Given the description of an element on the screen output the (x, y) to click on. 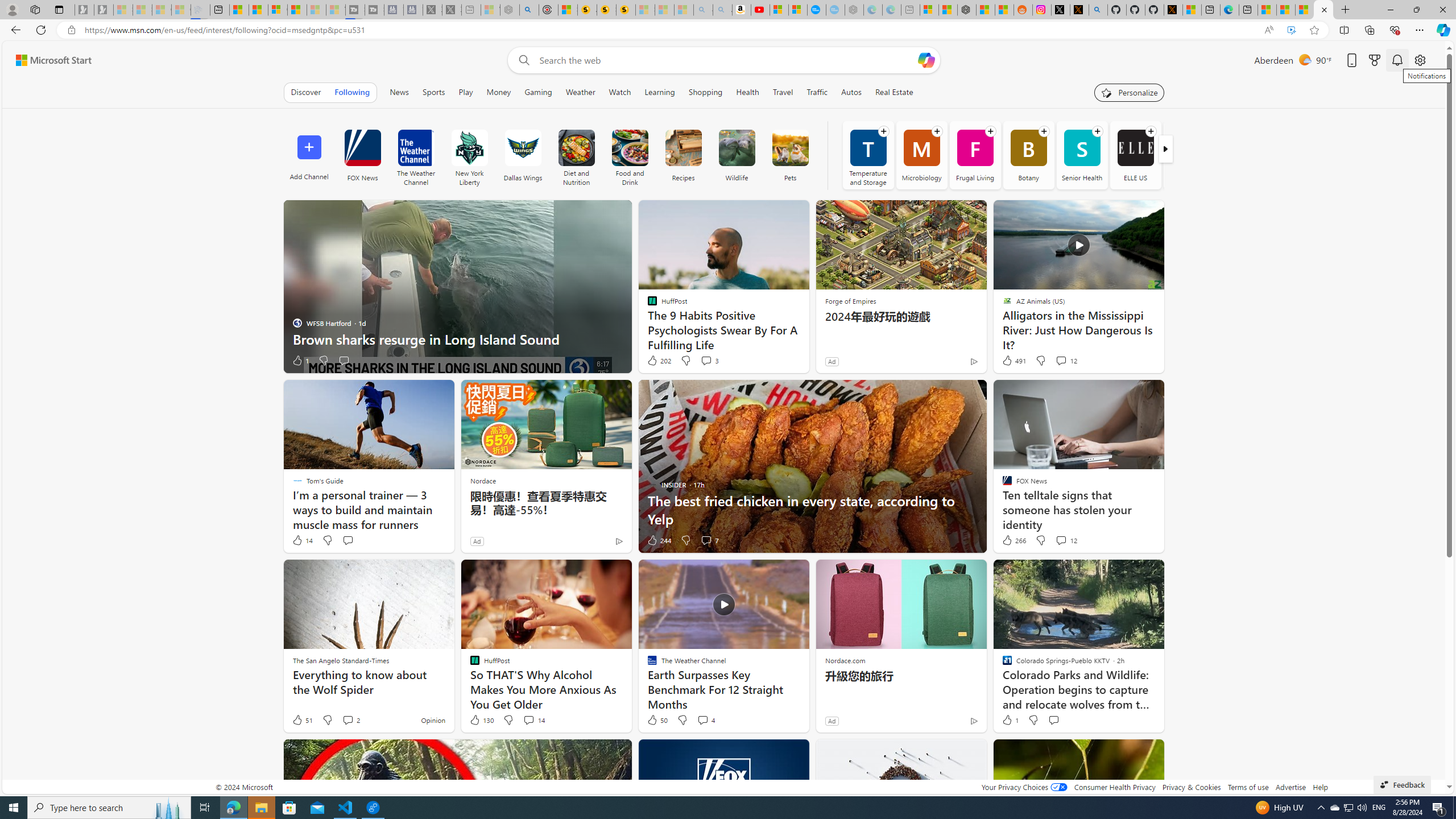
Nordace - Summer Adventures 2024 - Sleeping (509, 9)
Dallas Wings (522, 155)
Enhance video (1291, 29)
View comments 2 Comment (350, 719)
View comments 14 Comment (533, 719)
FOX News (362, 147)
The Weather Channel (416, 155)
Senior Health (1081, 155)
New York Liberty (469, 155)
X Privacy Policy (1173, 9)
